Given the description of an element on the screen output the (x, y) to click on. 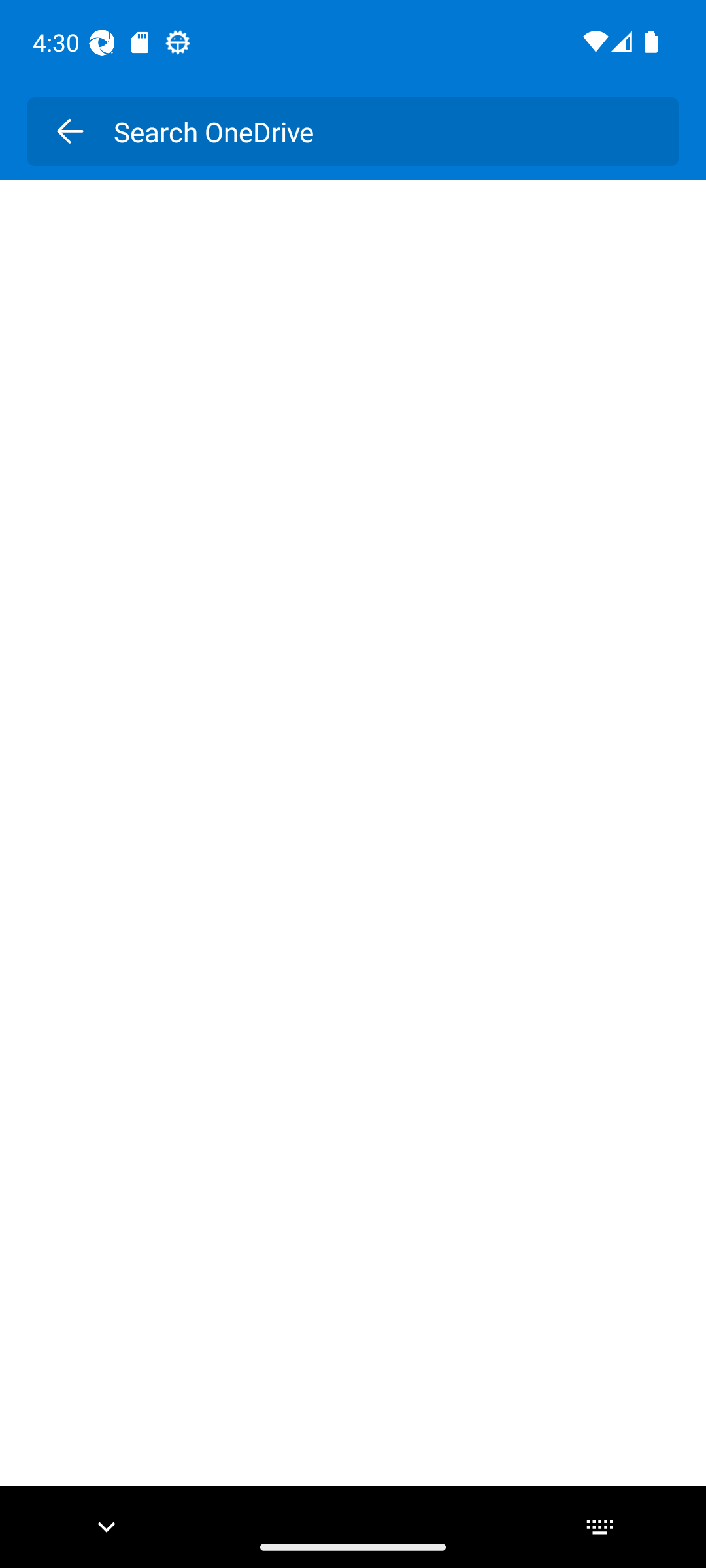
Navigate Up (69, 131)
Search OneDrive (382, 131)
